Given the description of an element on the screen output the (x, y) to click on. 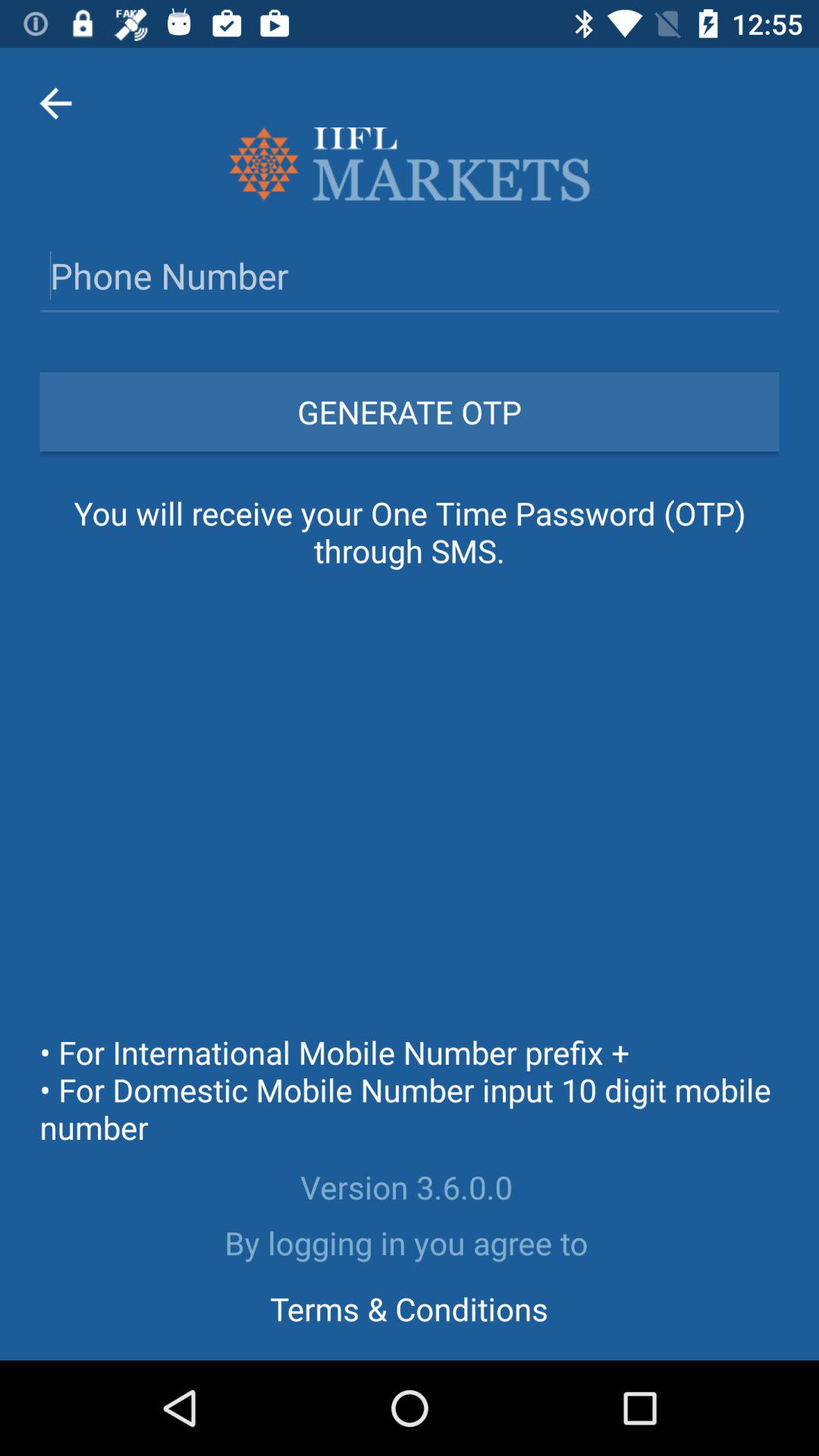
phone number (409, 275)
